Given the description of an element on the screen output the (x, y) to click on. 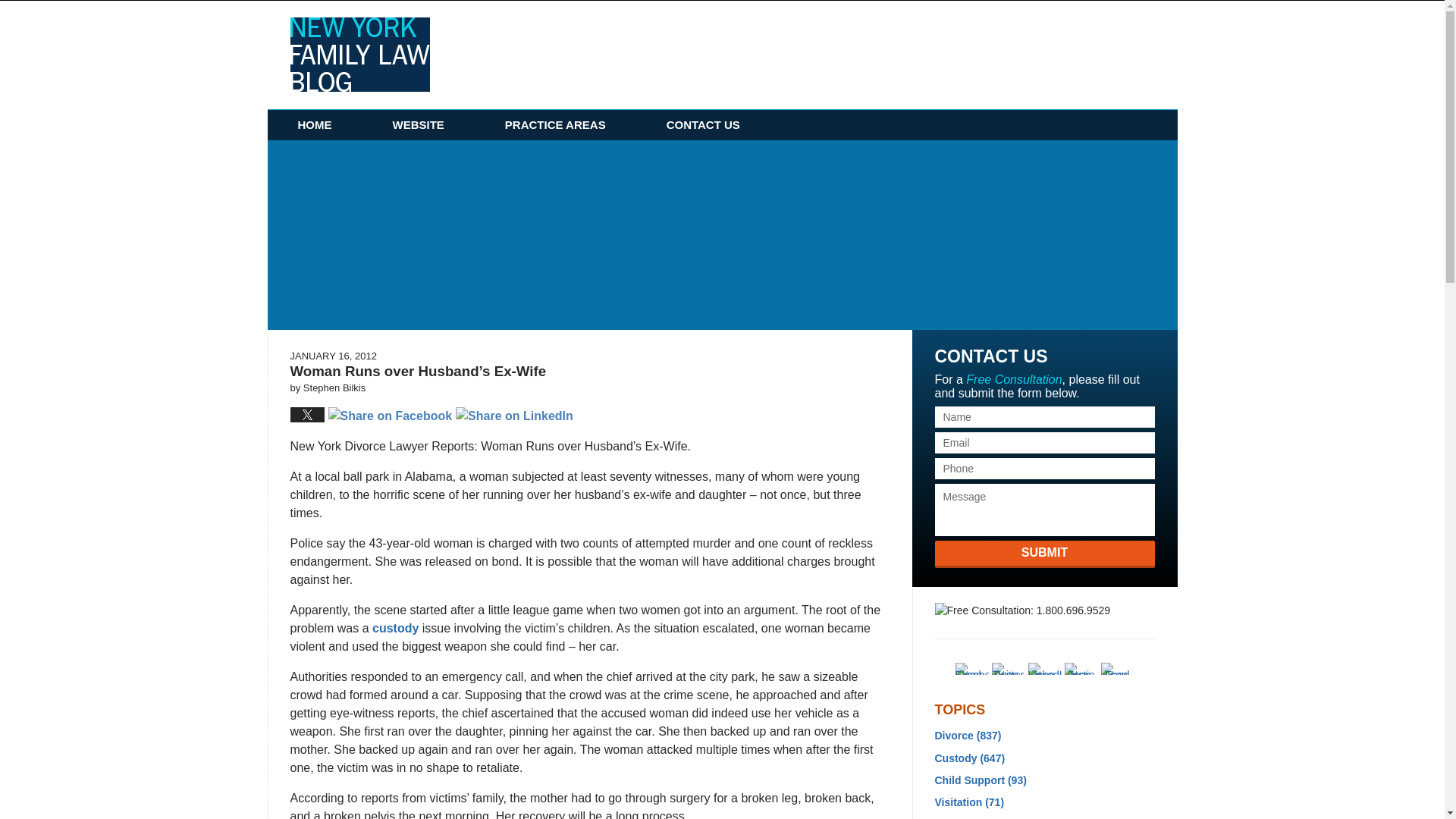
Justia (1080, 668)
PRACTICE AREAS (555, 124)
SUBMIT (1044, 554)
LinkedIn (1044, 668)
Twitter (1008, 668)
HOME (313, 124)
New York Family Law Blog (359, 54)
WEBSITE (418, 124)
Feed (1117, 668)
Facebook (971, 668)
